Given the description of an element on the screen output the (x, y) to click on. 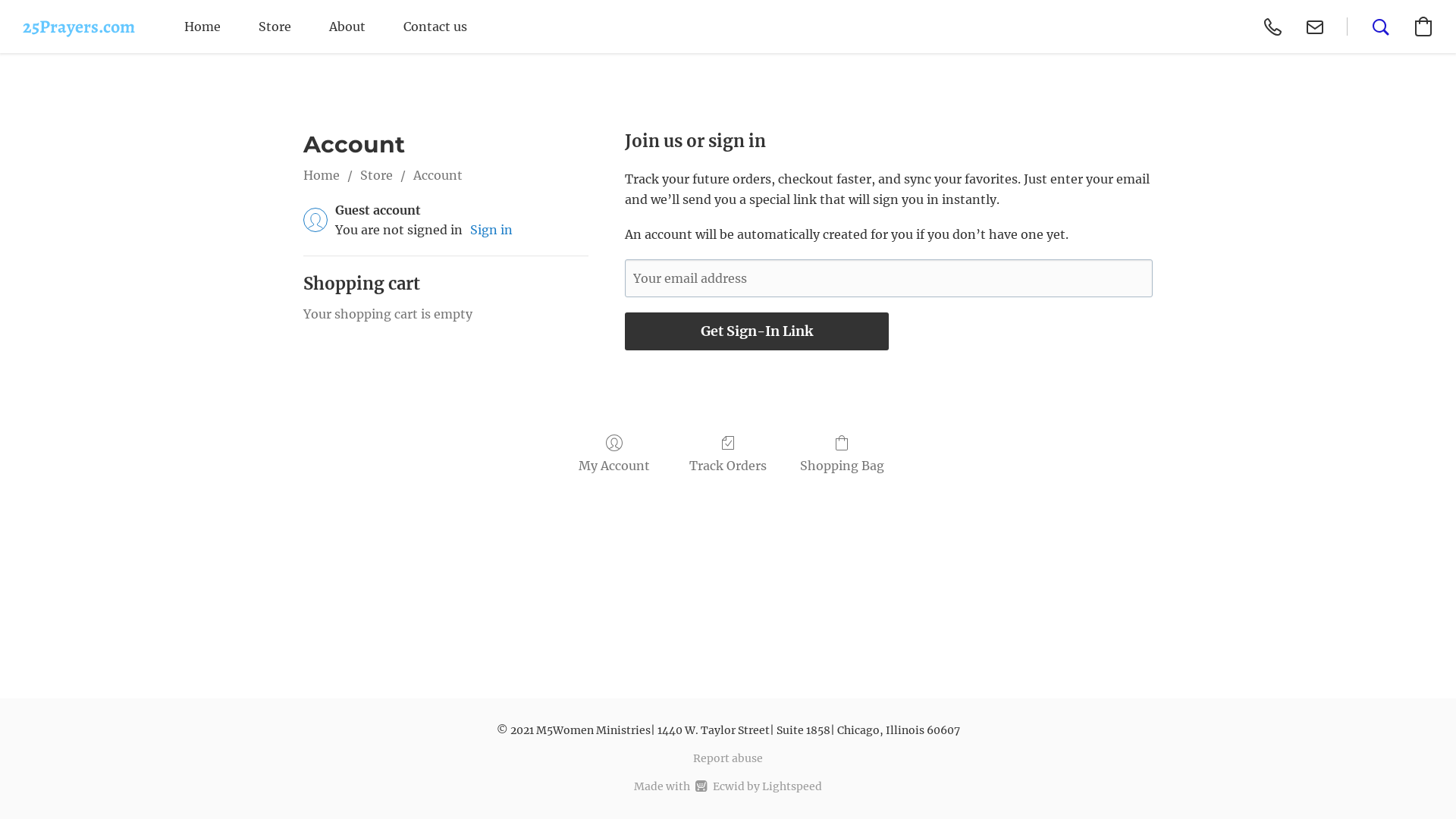
Track Orders Element type: text (727, 454)
Sign in Element type: text (491, 229)
Get Sign-In Link Element type: text (756, 331)
Home Element type: text (202, 26)
Store Element type: text (274, 26)
Store Element type: text (376, 174)
25Prayers.com Element type: text (78, 26)
Account Element type: text (437, 174)
Search the website Element type: hover (1380, 26)
8722338238 Element type: hover (1272, 26)
Made with
Ecwid by Lightspeed Element type: text (727, 786)
Home Element type: text (321, 174)
Go to your shopping cart Element type: hover (1423, 26)
About Element type: text (347, 26)
My Account Element type: text (614, 454)
Report abuse Element type: text (727, 758)
Contact us Element type: text (435, 26)
theprayerencounter@gmail.com Element type: hover (1314, 26)
Shopping Bag Element type: text (841, 454)
